Given the description of an element on the screen output the (x, y) to click on. 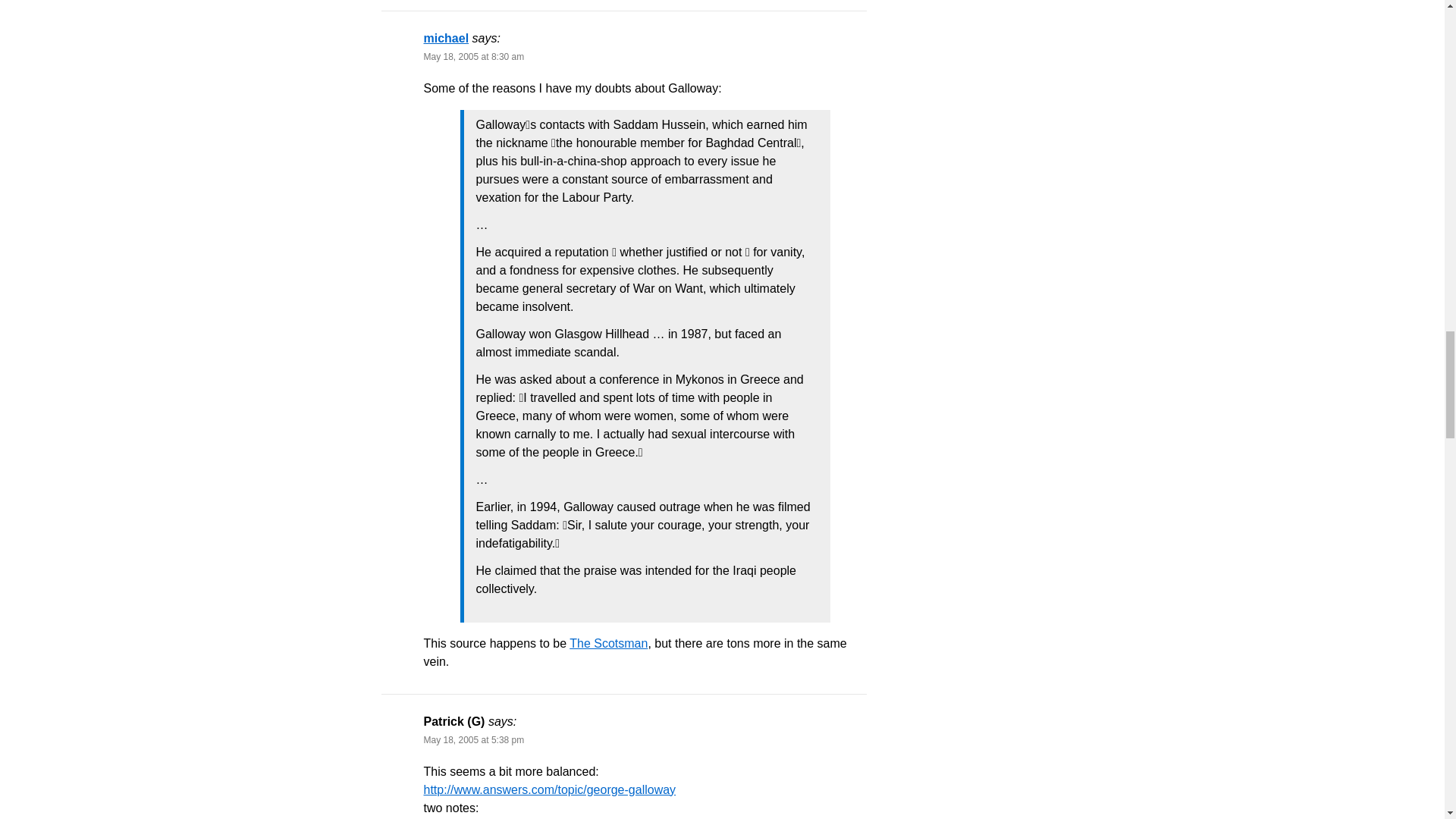
michael (445, 38)
May 18, 2005 at 8:30 am (473, 56)
The Scotsman (608, 643)
May 18, 2005 at 5:38 pm (473, 739)
